Given the description of an element on the screen output the (x, y) to click on. 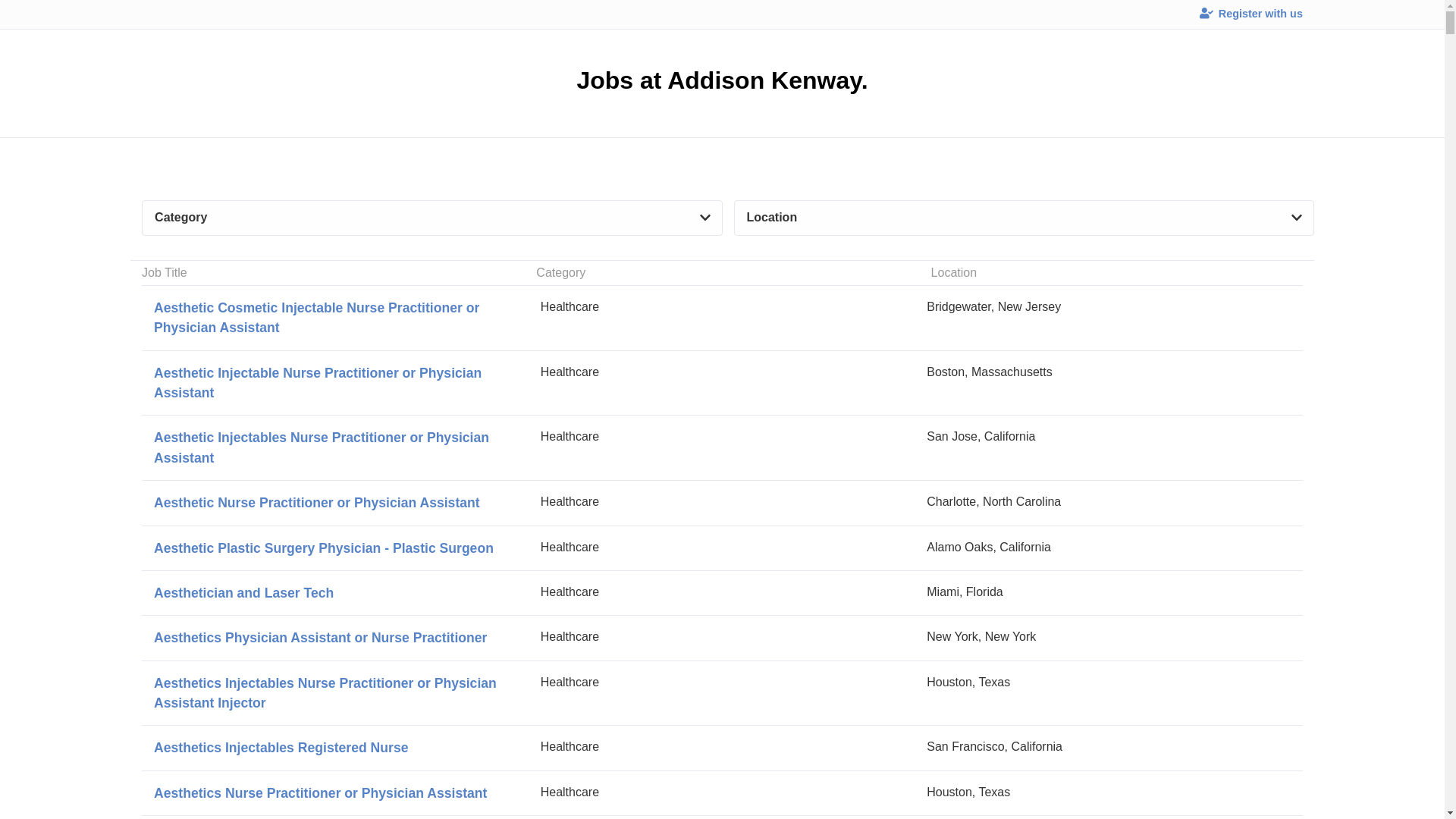
Category (431, 217)
Location (1023, 217)
Register with us (722, 592)
